Given the description of an element on the screen output the (x, y) to click on. 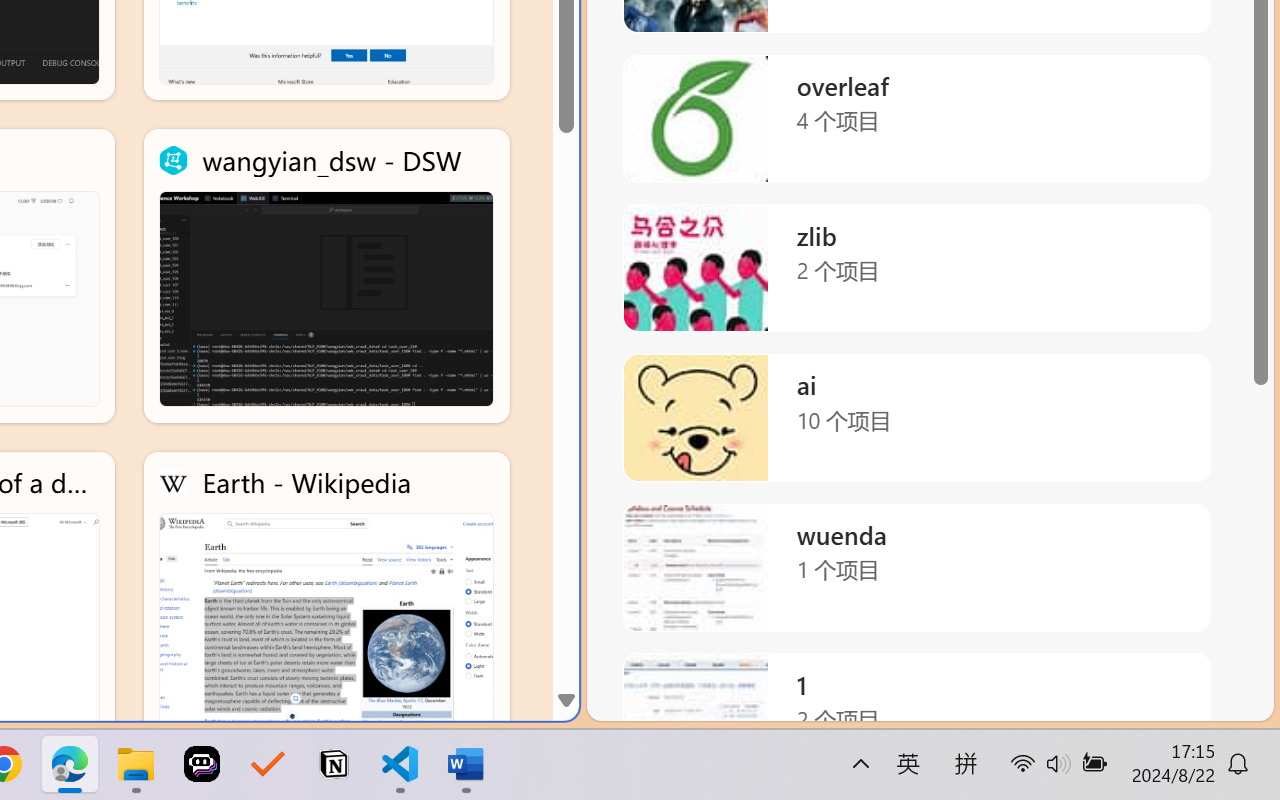
Earth - Wikipedia (326, 598)
wangyian_dsw - DSW (326, 275)
